Given the description of an element on the screen output the (x, y) to click on. 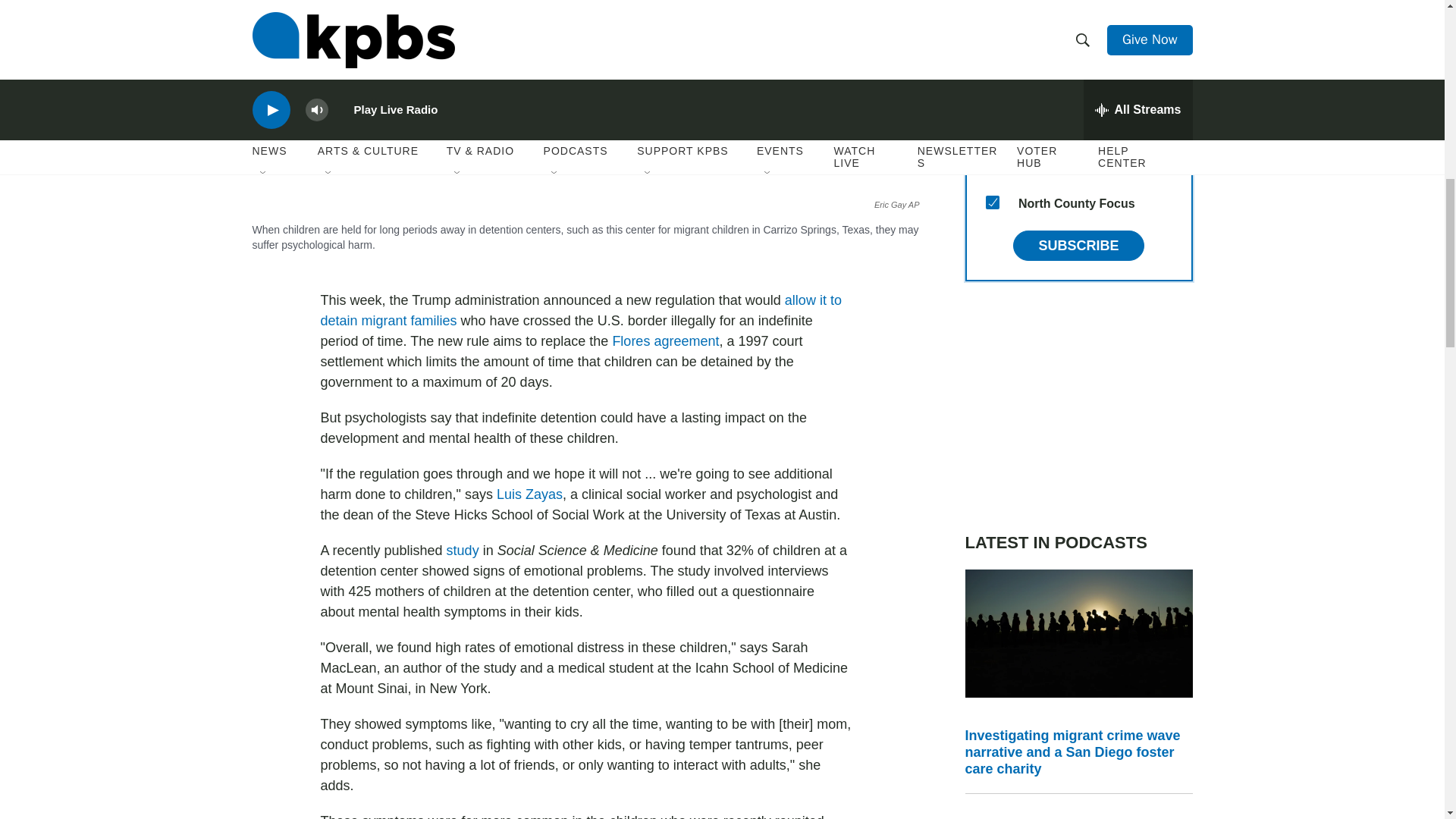
2 (991, 92)
5 (991, 20)
1 (991, 129)
6 (991, 56)
8 (991, 165)
15 (991, 202)
